Given the description of an element on the screen output the (x, y) to click on. 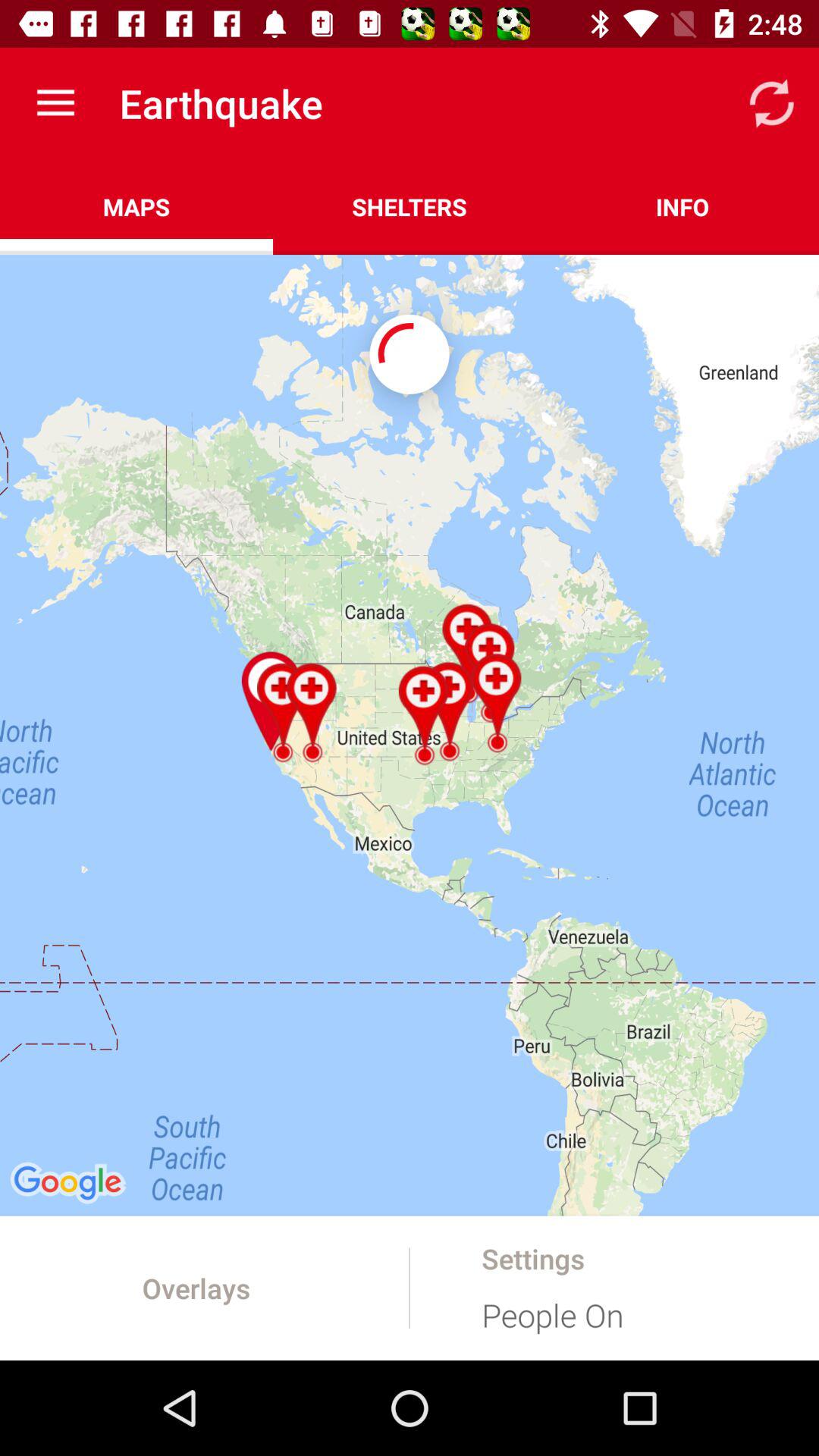
click app to the right of the maps item (409, 206)
